Given the description of an element on the screen output the (x, y) to click on. 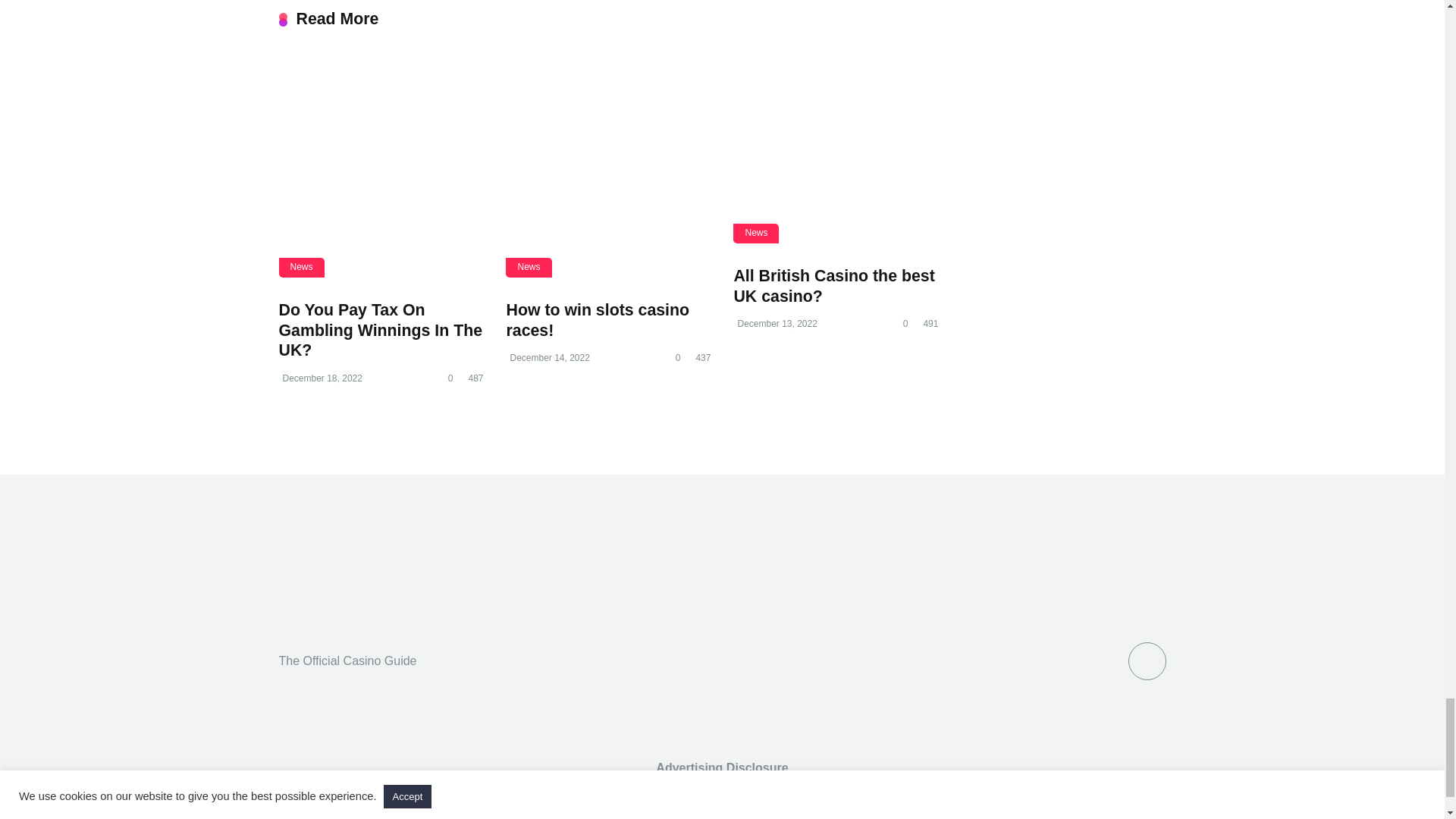
News (528, 266)
How to win slots casino races! (596, 320)
All British Casino the best UK casino? (833, 285)
Facebook (1147, 660)
How to win slots casino races! (596, 320)
How to win slots casino races! (607, 155)
All British Casino the best UK casino? (835, 138)
News (755, 232)
Do You Pay Tax On Gambling Winnings In The UK? (381, 330)
Do You Pay Tax On Gambling Winnings In The UK? (381, 155)
News (301, 266)
All British Casino the best UK casino? (833, 285)
Do You Pay Tax On Gambling Winnings In The UK? (381, 330)
